Given the description of an element on the screen output the (x, y) to click on. 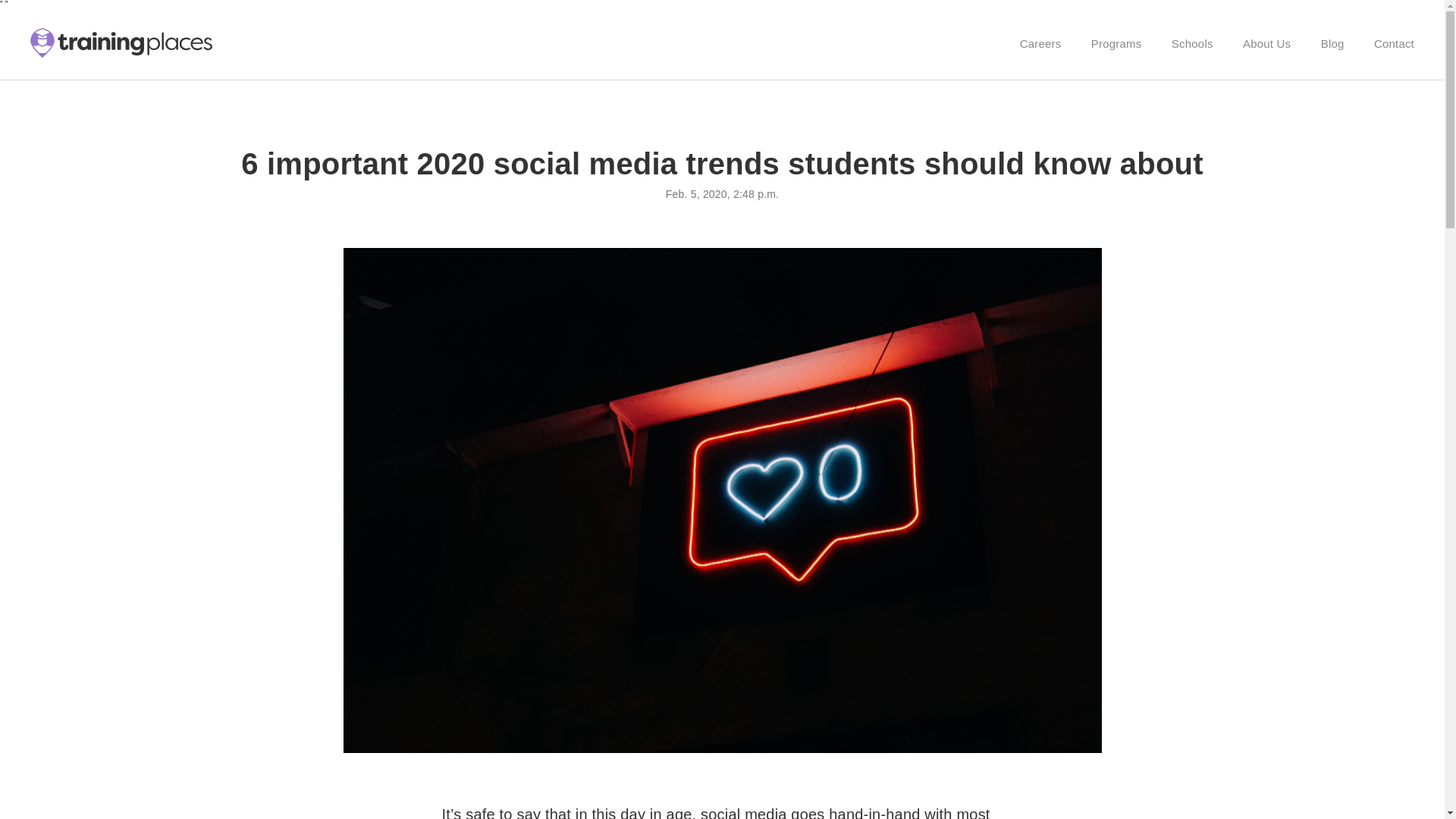
Careers (1040, 42)
Blog (1331, 42)
About Us (1266, 42)
Contact (1393, 42)
Schools (1192, 42)
Programs (1115, 42)
